Given the description of an element on the screen output the (x, y) to click on. 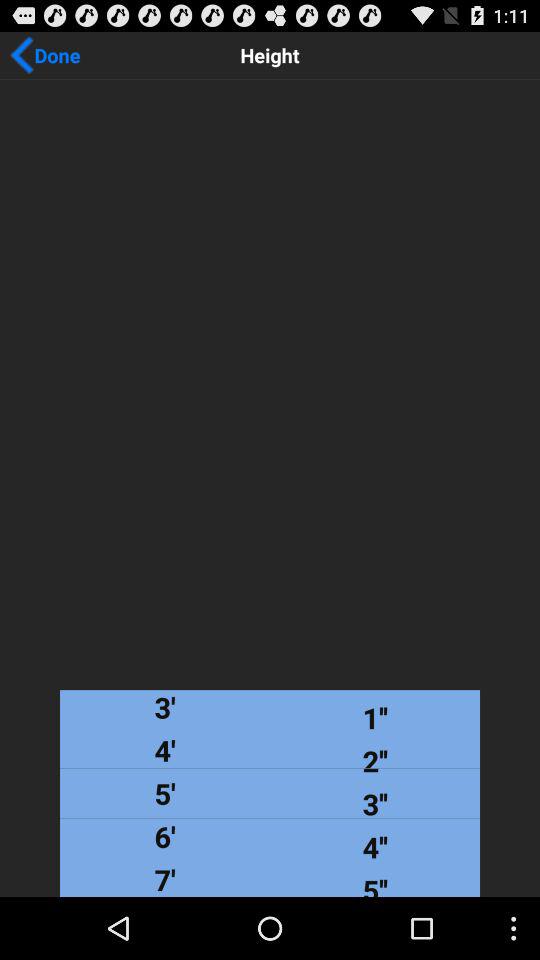
turn on icon next to height item (45, 55)
